Given the description of an element on the screen output the (x, y) to click on. 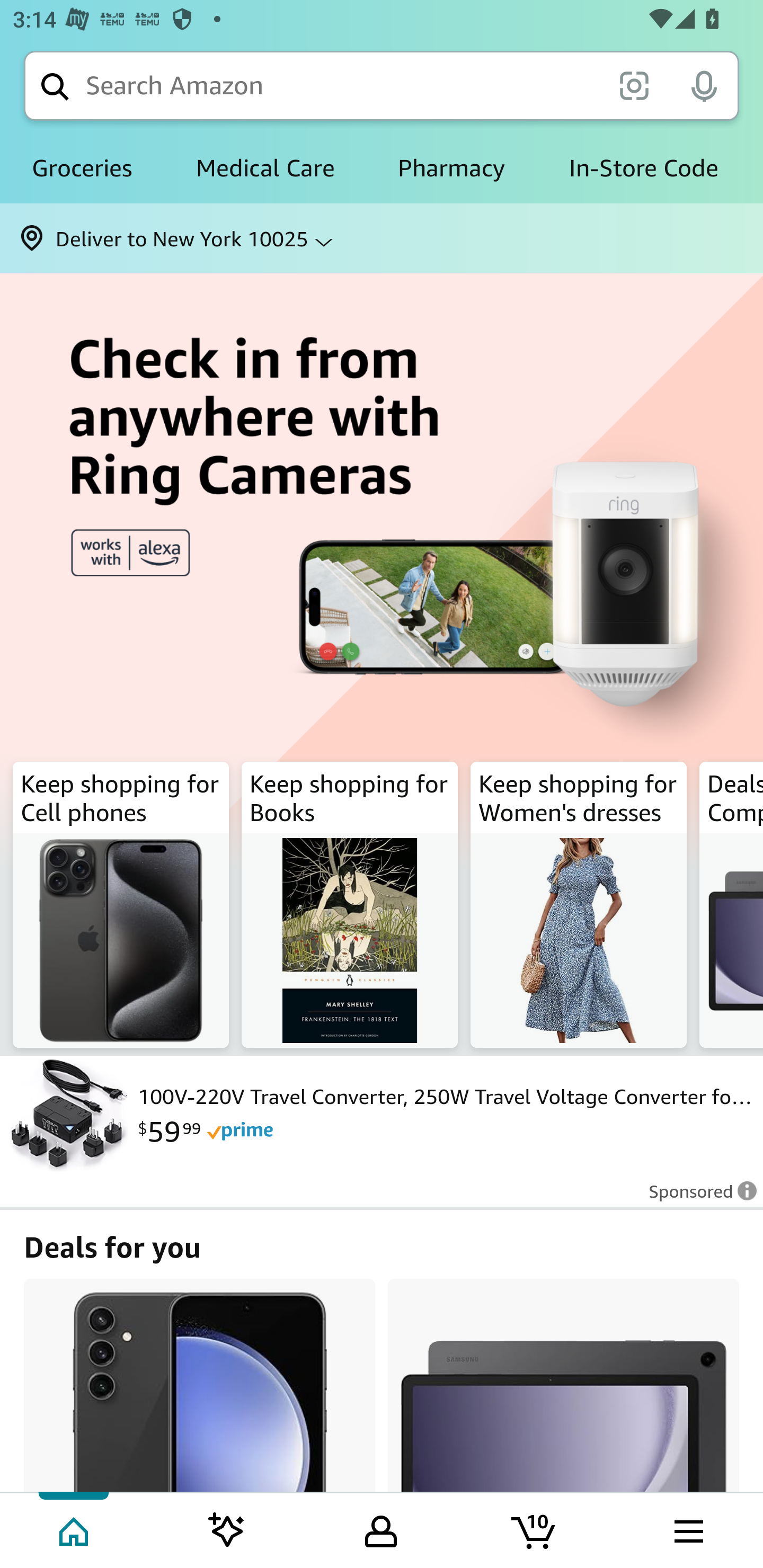
scan it (633, 85)
Groceries (82, 168)
Medical Care (265, 168)
Pharmacy (451, 168)
In-Store Code (643, 168)
Deliver to New York 10025 ⌵ (381, 237)
Keep shopping for Books Keep shopping for Books (349, 904)
Leave feedback on Sponsored ad Sponsored  (696, 1196)
Home Tab 1 of 5 (75, 1529)
Inspire feed Tab 2 of 5 (227, 1529)
Your Amazon.com Tab 3 of 5 (380, 1529)
Cart 10 items Tab 4 of 5 10 (534, 1529)
Browse menu Tab 5 of 5 (687, 1529)
